Given the description of an element on the screen output the (x, y) to click on. 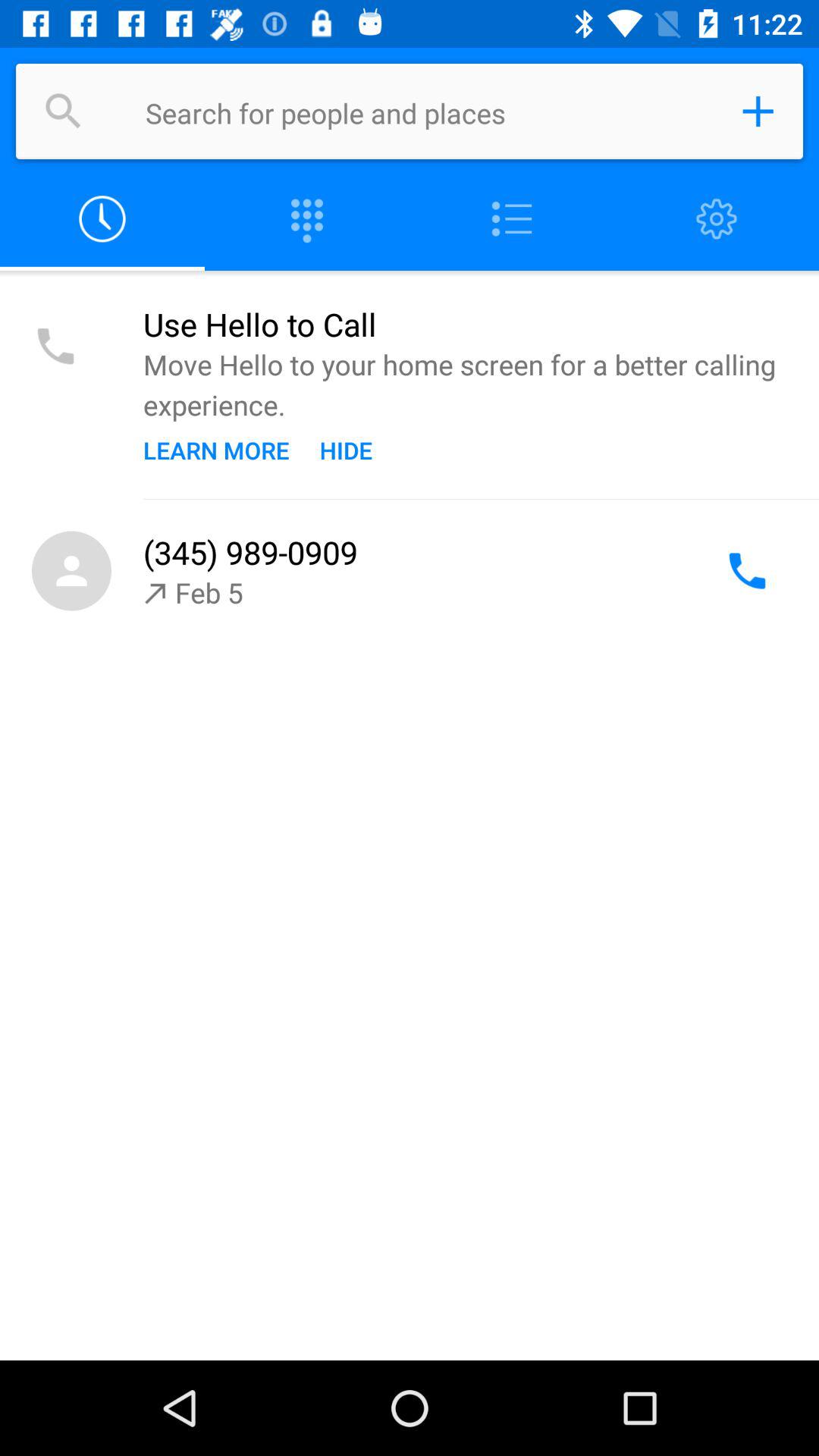
open contact list (511, 219)
